Given the description of an element on the screen output the (x, y) to click on. 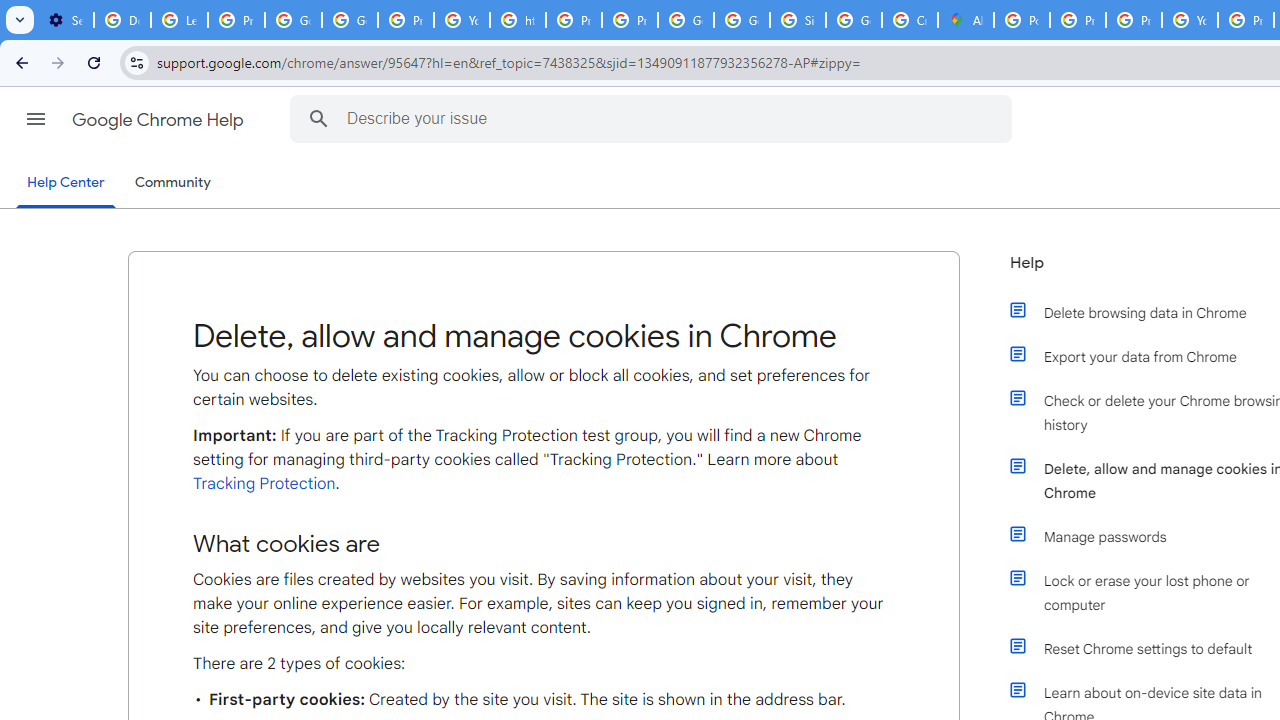
Settings - On startup (65, 20)
Community (171, 183)
Delete photos & videos - Computer - Google Photos Help (122, 20)
Help Center (65, 183)
Privacy Help Center - Policies Help (1133, 20)
https://scholar.google.com/ (518, 20)
YouTube (1190, 20)
Search Help Center (318, 118)
Create your Google Account (909, 20)
